Given the description of an element on the screen output the (x, y) to click on. 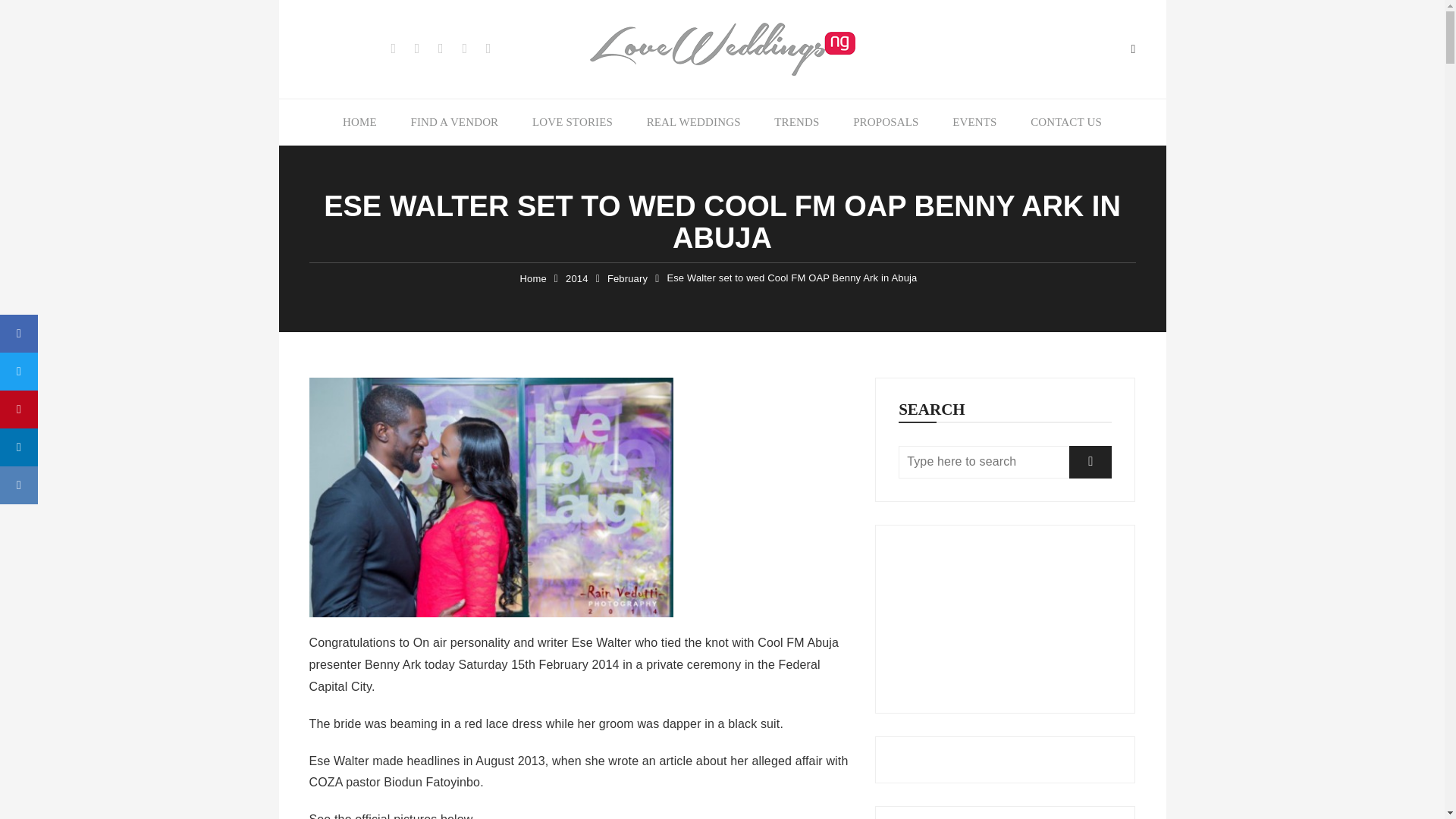
PROPOSALS (885, 121)
LOVE STORIES (571, 121)
February (627, 278)
REAL WEDDINGS (693, 121)
Home (533, 278)
EVENTS (974, 121)
TRENDS (796, 121)
2014 (577, 278)
FIND A VENDOR (453, 121)
HOME (359, 121)
CONTACT US (1065, 121)
